Given the description of an element on the screen output the (x, y) to click on. 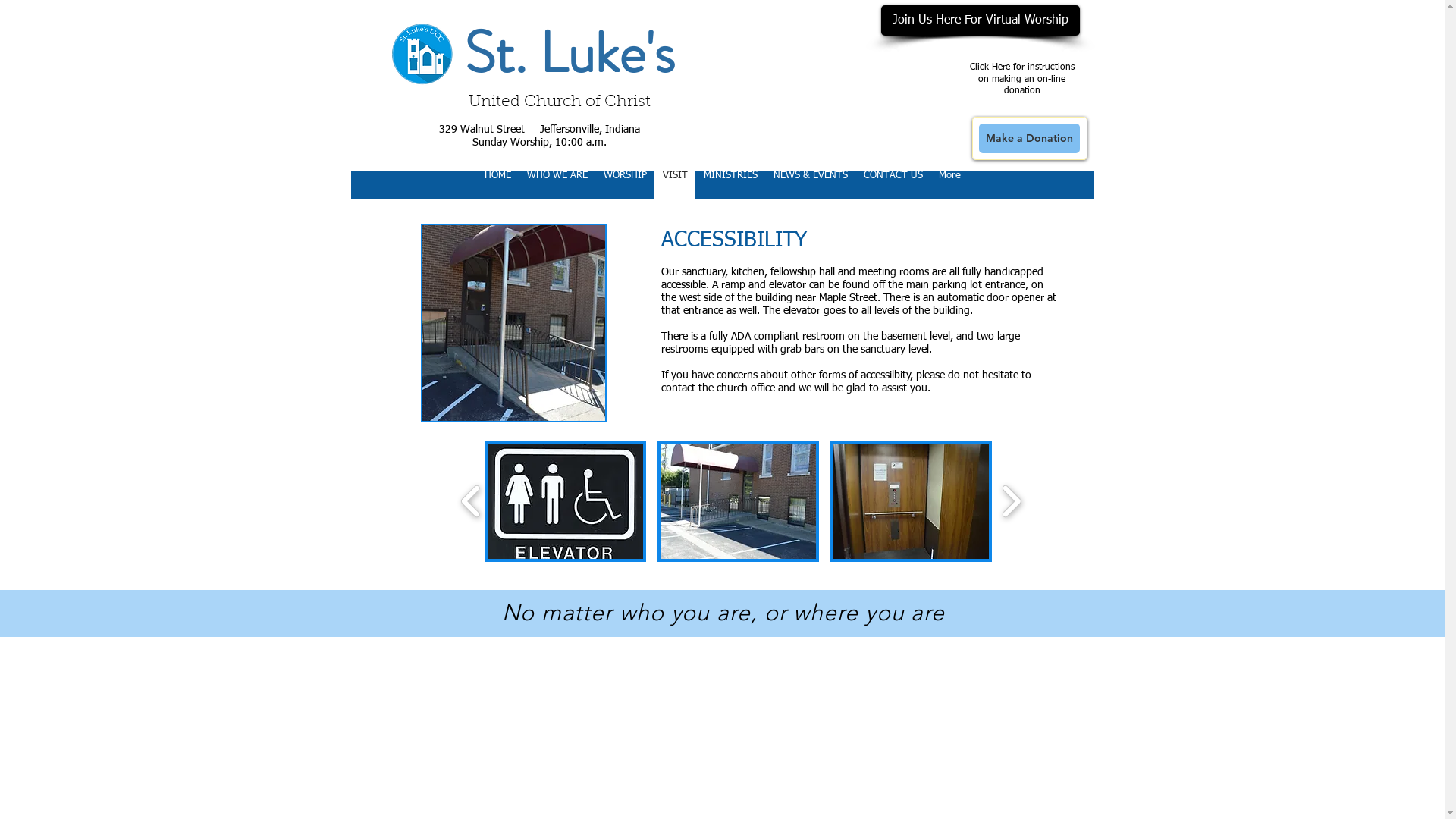
VISIT Element type: text (673, 184)
DSC_0086.JPG Element type: hover (512, 322)
Make a Donation Element type: text (1028, 138)
MINISTRIES Element type: text (729, 184)
Click Here for instructions on making an on-line donation Element type: text (1021, 78)
WHO WE ARE Element type: text (556, 184)
WORSHIP Element type: text (623, 184)
NEWS & EVENTS Element type: text (809, 184)
Join Us Here For Virtual Worship Element type: text (980, 20)
CONTACT US Element type: text (892, 184)
HOME Element type: text (496, 184)
